Given the description of an element on the screen output the (x, y) to click on. 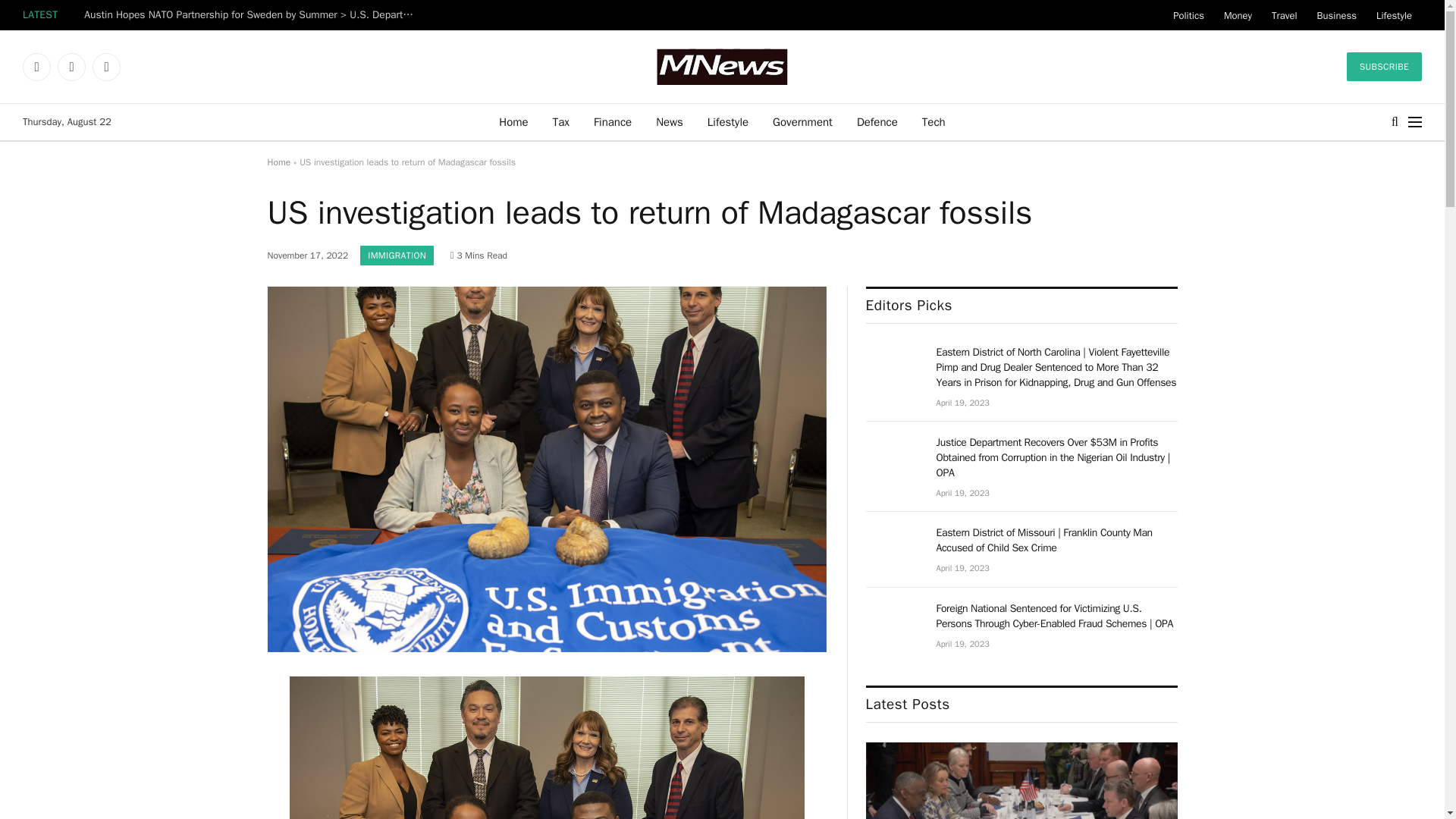
Tax (560, 122)
Mnews (721, 66)
Politics (1188, 15)
News (669, 122)
Lifestyle (1394, 15)
Finance (611, 122)
Facebook (36, 67)
Instagram (106, 67)
Tech (934, 122)
